Given the description of an element on the screen output the (x, y) to click on. 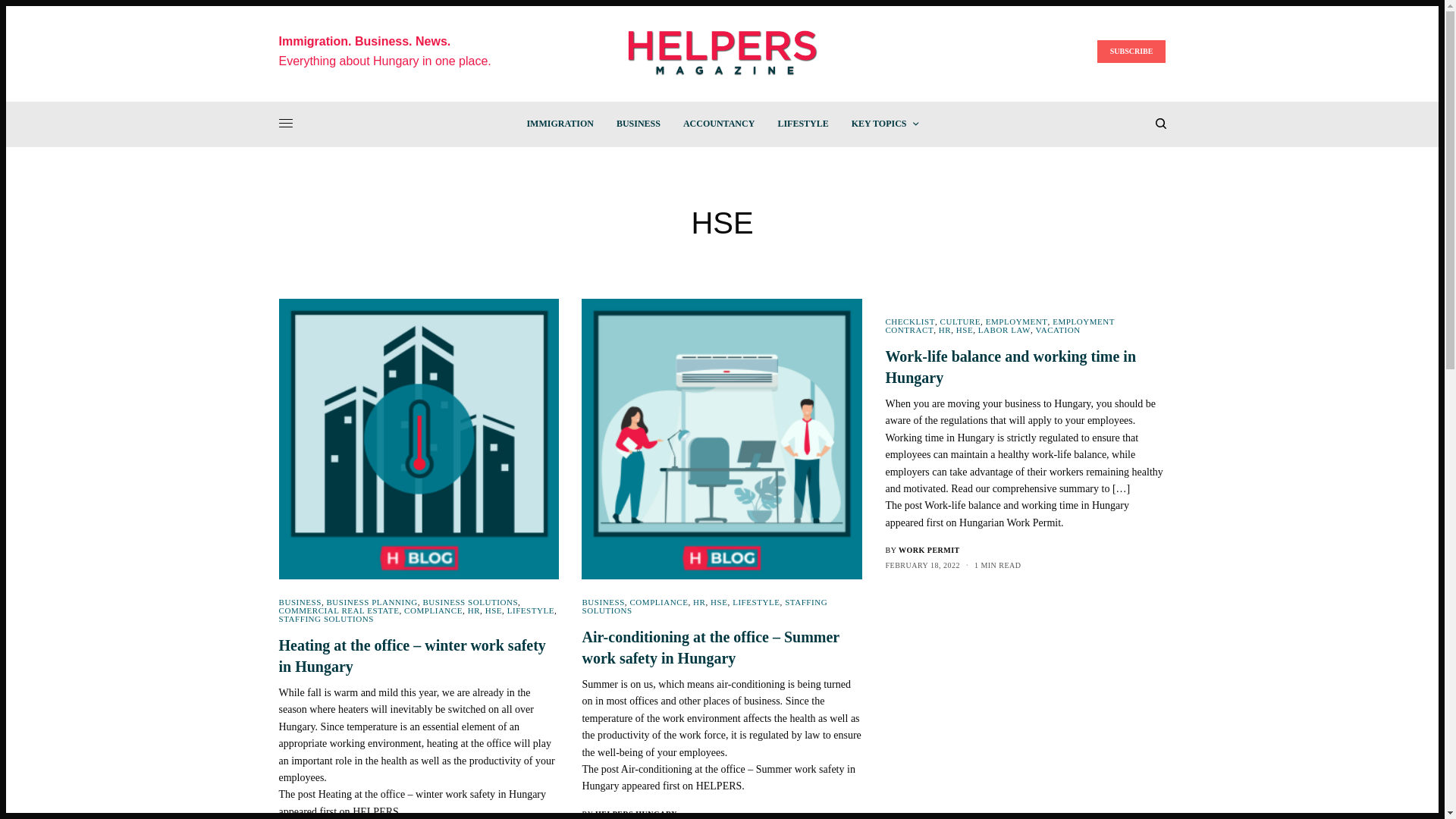
LIFESTYLE (802, 123)
ACCOUNTANCY (718, 123)
Posts by Helpers Hungary (636, 813)
BUSINESS (638, 123)
Posts by Work Permit (928, 550)
KEY TOPICS (884, 123)
SUBSCRIBE (1131, 51)
Work-life balance and working time in Hungary (1025, 366)
Helpers Magazine (722, 51)
IMMIGRATION (558, 123)
